Given the description of an element on the screen output the (x, y) to click on. 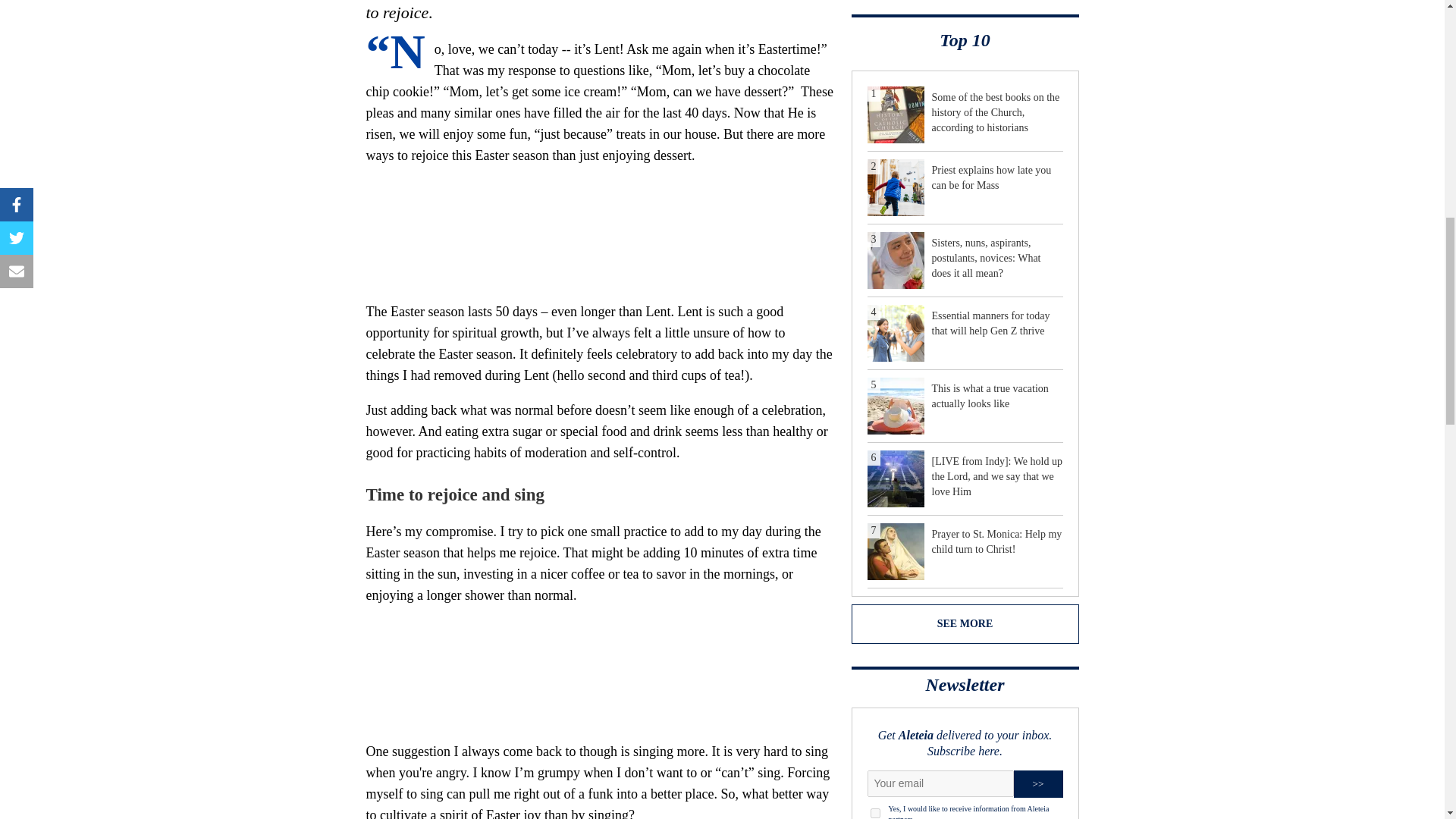
1 (875, 813)
